Given the description of an element on the screen output the (x, y) to click on. 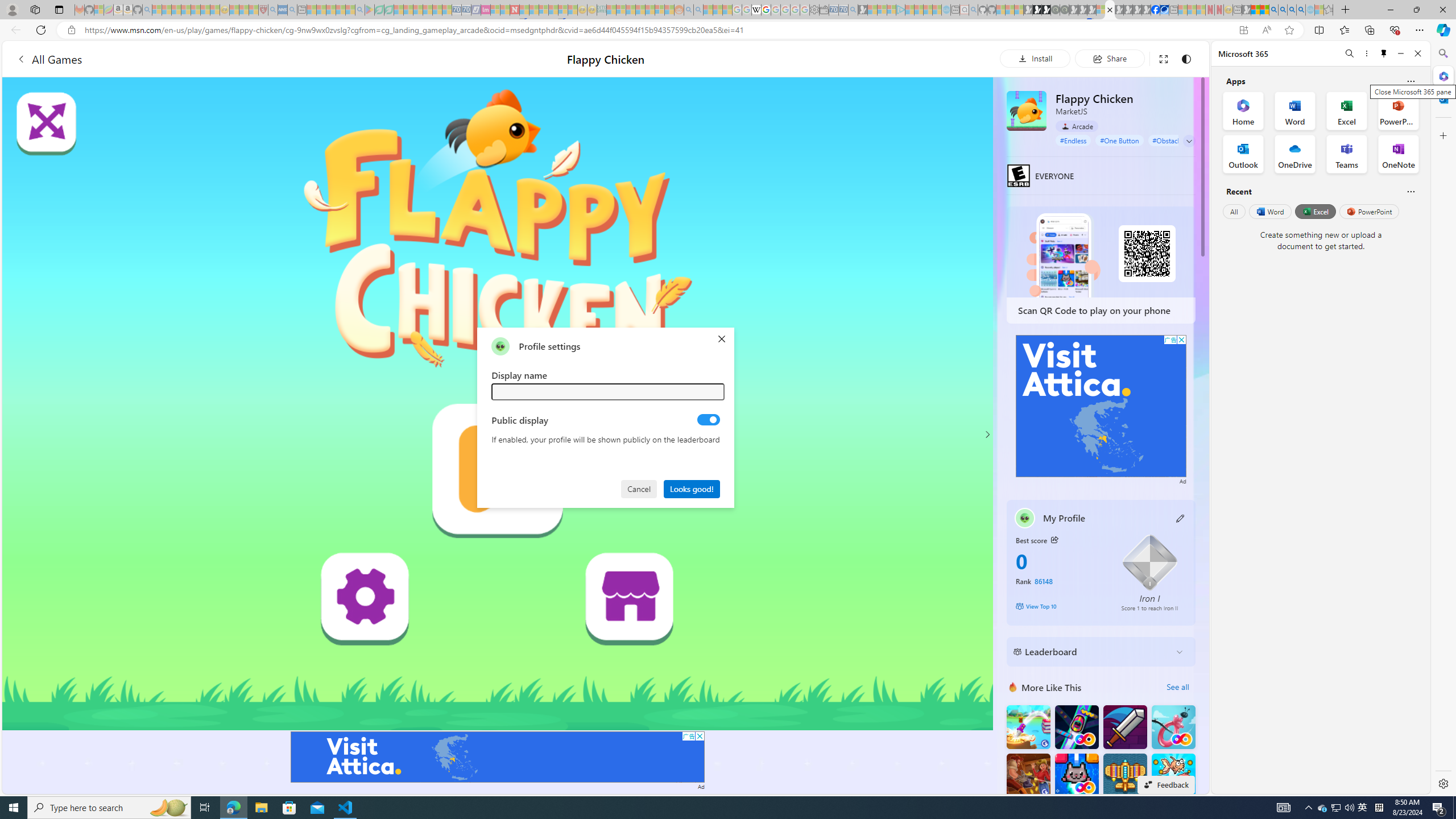
Pets - MSN - Sleeping (340, 9)
Bluey: Let's Play! - Apps on Google Play - Sleeping (369, 9)
